Given the description of an element on the screen output the (x, y) to click on. 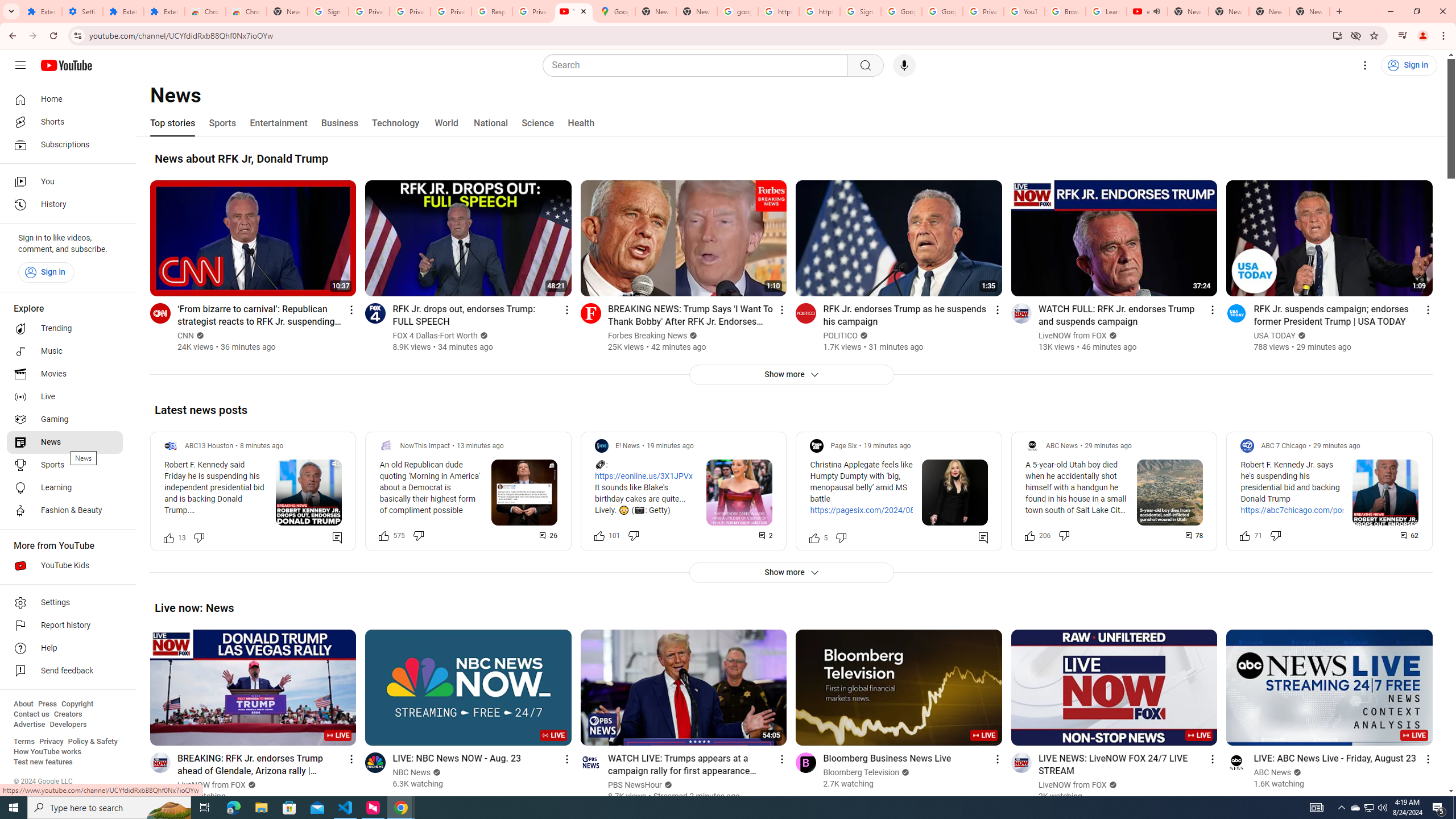
POLITICO (840, 335)
Extensions (41, 11)
New Tab (1309, 11)
Music (64, 350)
Page Six (843, 445)
Contact us (31, 714)
https://pagesix.com/2024/08/22/entert... (883, 510)
Learning (64, 487)
Sign in - Google Accounts (860, 11)
Privacy (51, 741)
YouTube Home (66, 65)
